Given the description of an element on the screen output the (x, y) to click on. 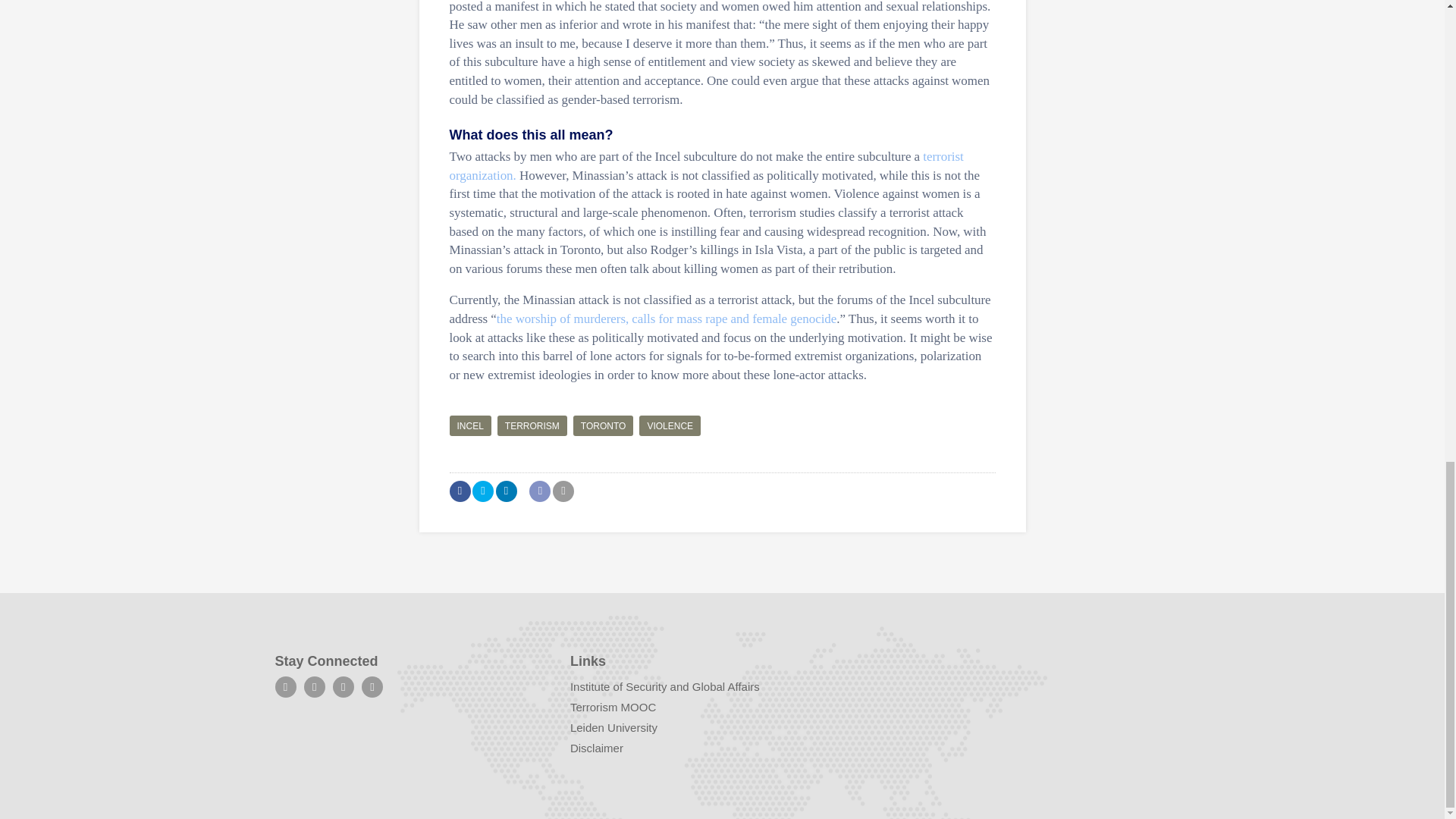
Print (563, 491)
terrorist organization. (705, 165)
Terrorism MOOC (613, 707)
Disclaimer (596, 748)
INCEL (469, 425)
Leiden University (614, 727)
TORONTO (603, 425)
Institute of Security and Global Affairs (665, 686)
VIOLENCE (669, 425)
TERRORISM (532, 425)
